Given the description of an element on the screen output the (x, y) to click on. 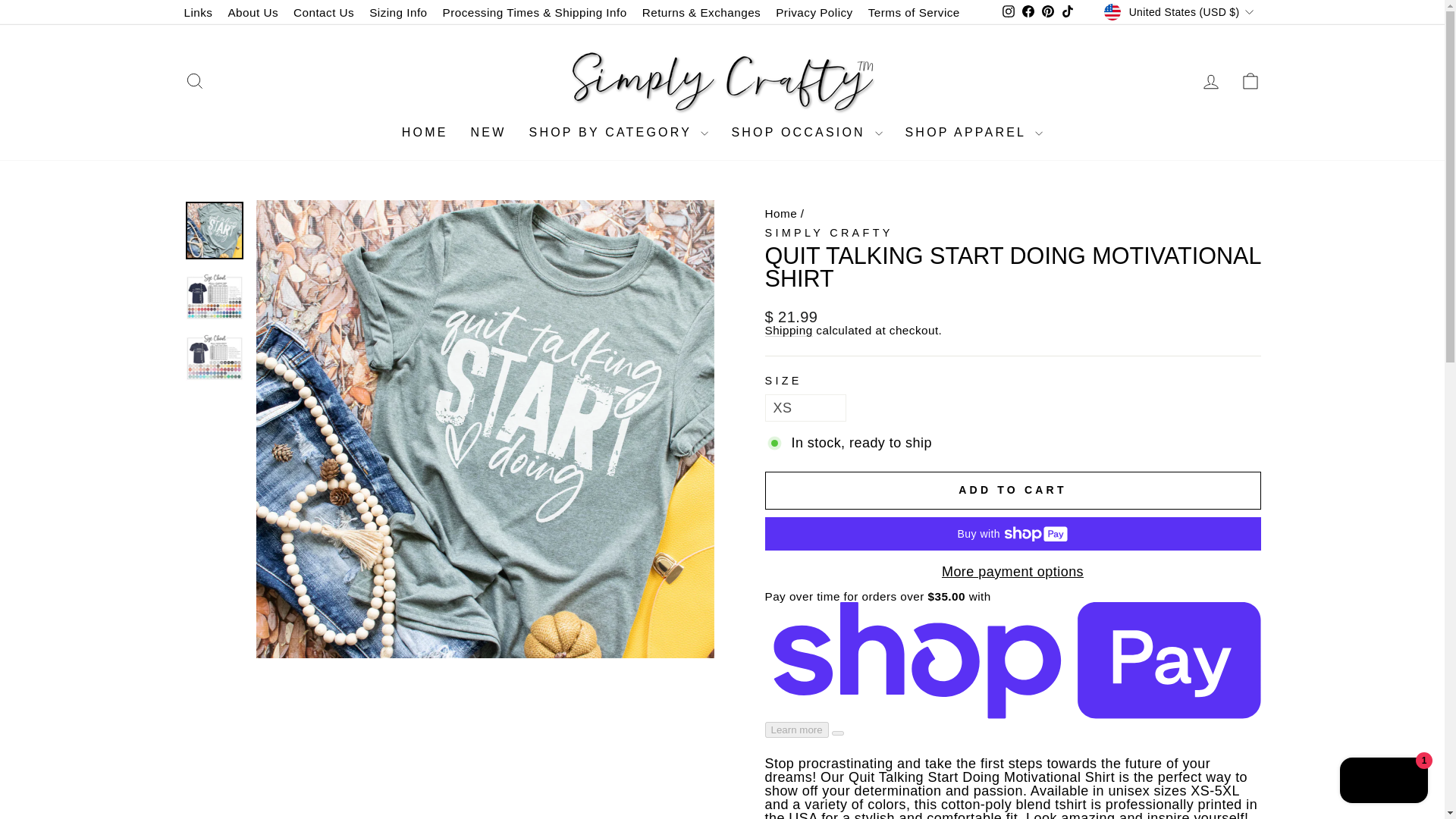
Simply Crafty on TikTok (1067, 12)
Simply Crafty on Pinterest (1048, 12)
ICON-SEARCH (194, 80)
Simply Crafty (828, 232)
instagram (1008, 10)
Simply Crafty on Facebook (1027, 12)
ICON-BAG-MINIMAL (1249, 80)
Back to the frontpage (780, 213)
Simply Crafty on Instagram (1007, 12)
ACCOUNT (1210, 81)
